Given the description of an element on the screen output the (x, y) to click on. 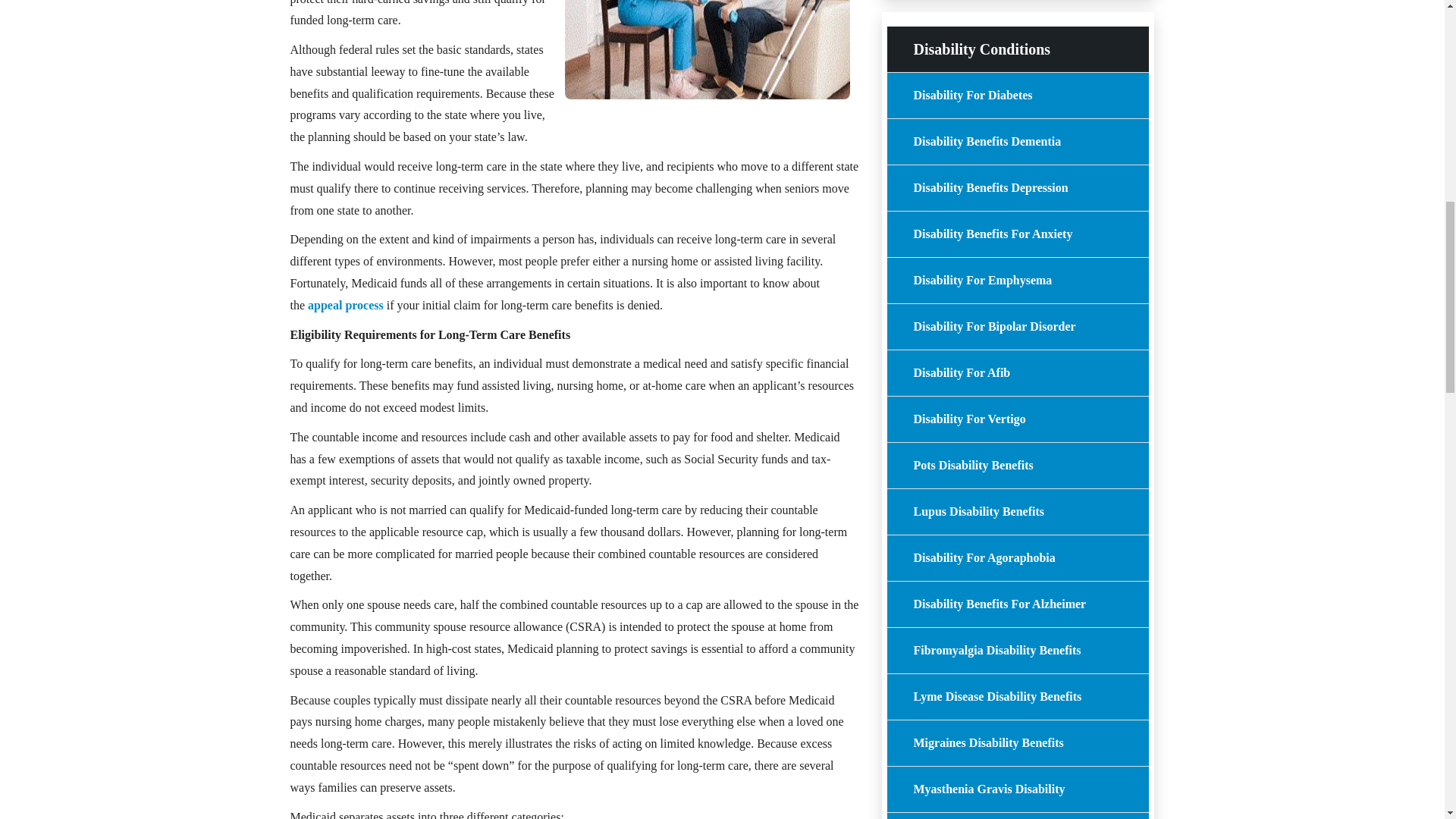
appeal process (345, 305)
Disability For Bipolar Disorder (1018, 326)
Disability Conditions (1018, 49)
Disability Benefits Depression (1018, 187)
Disability For Emphysema (1018, 280)
Disability For Afib (1018, 372)
Disability Benefits For Anxiety (1018, 234)
Disability Benefits Dementia (1018, 141)
Disability For Diabetes (1018, 94)
